Given the description of an element on the screen output the (x, y) to click on. 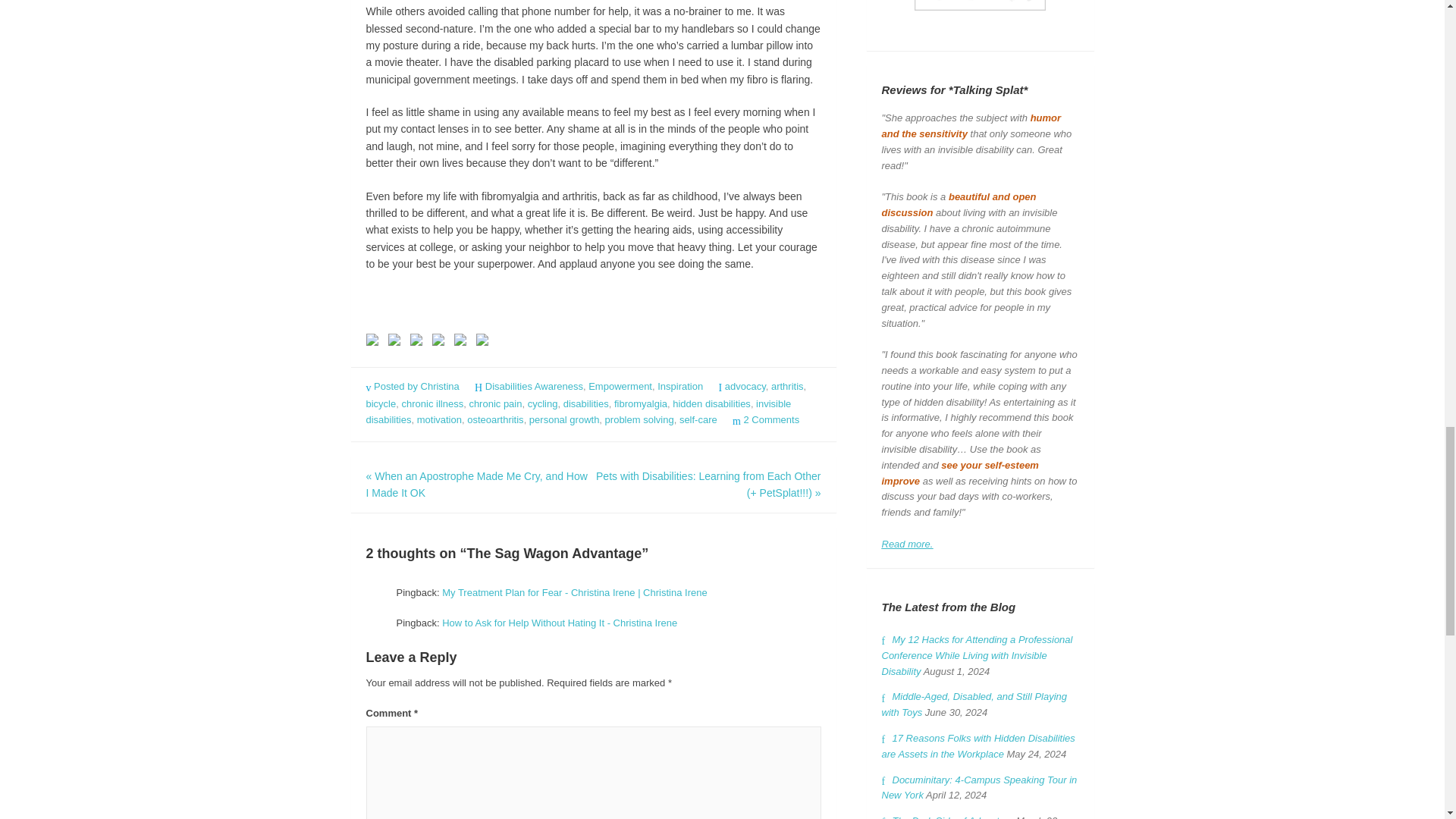
Share on Linkedin (461, 342)
Share by email (485, 342)
Share on Linkedin (458, 339)
Posted by Christina (413, 386)
Share on Twitter (397, 342)
Share on Facebook (371, 339)
Share on Reddit (415, 339)
Pin it with Pinterest (440, 342)
Share on Reddit (418, 342)
Share on Facebook (374, 342)
